Given the description of an element on the screen output the (x, y) to click on. 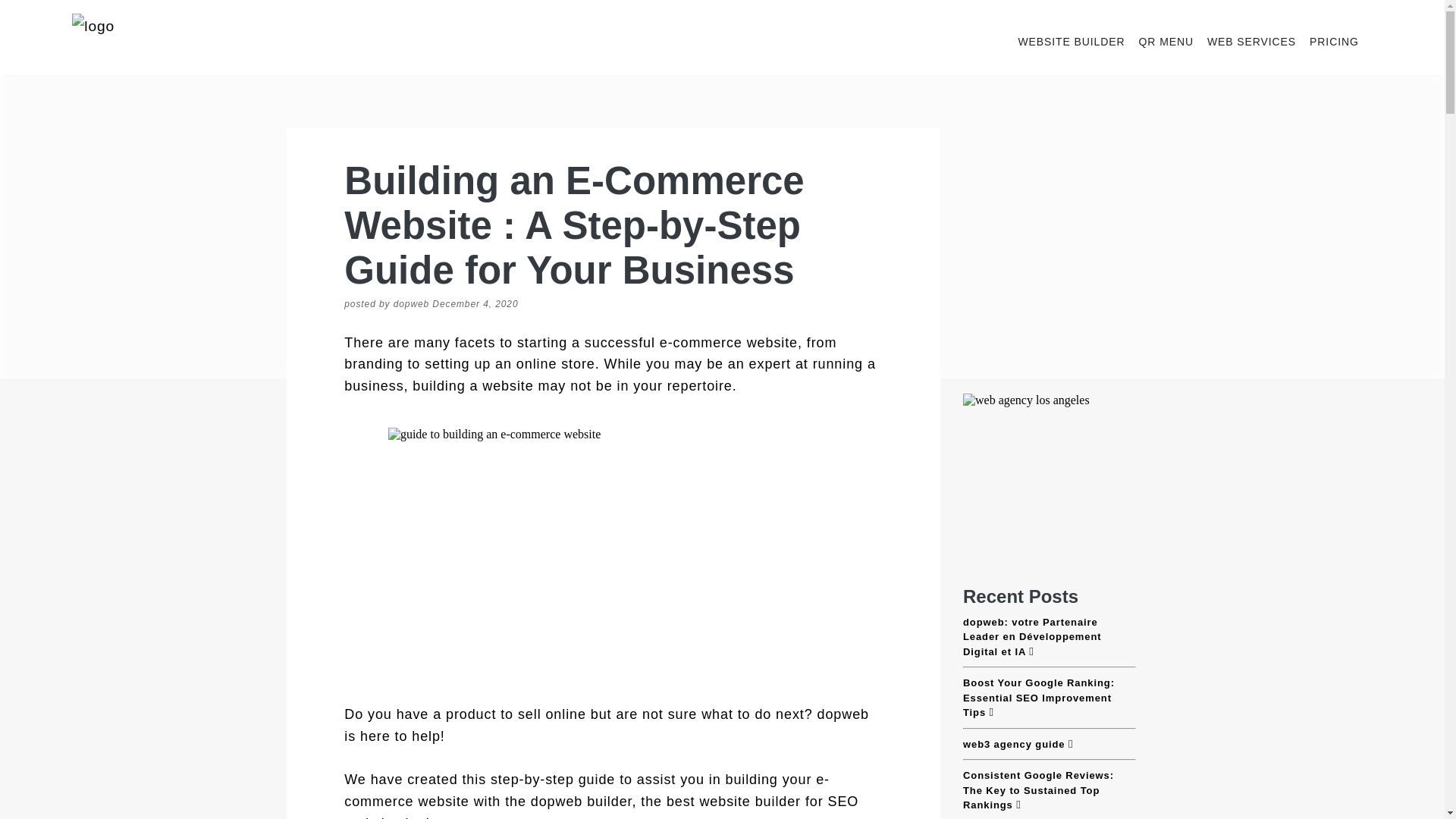
WEBSITE BUILDER (1070, 41)
Boost Your Google Ranking: Essential SEO Improvement Tips (1048, 697)
PRICING (1333, 41)
Consistent Google Reviews: The Key to Sustained Top Rankings (1048, 790)
QR MENU (1165, 41)
web3 agency guide (1048, 744)
WEB SERVICES (1251, 41)
